Given the description of an element on the screen output the (x, y) to click on. 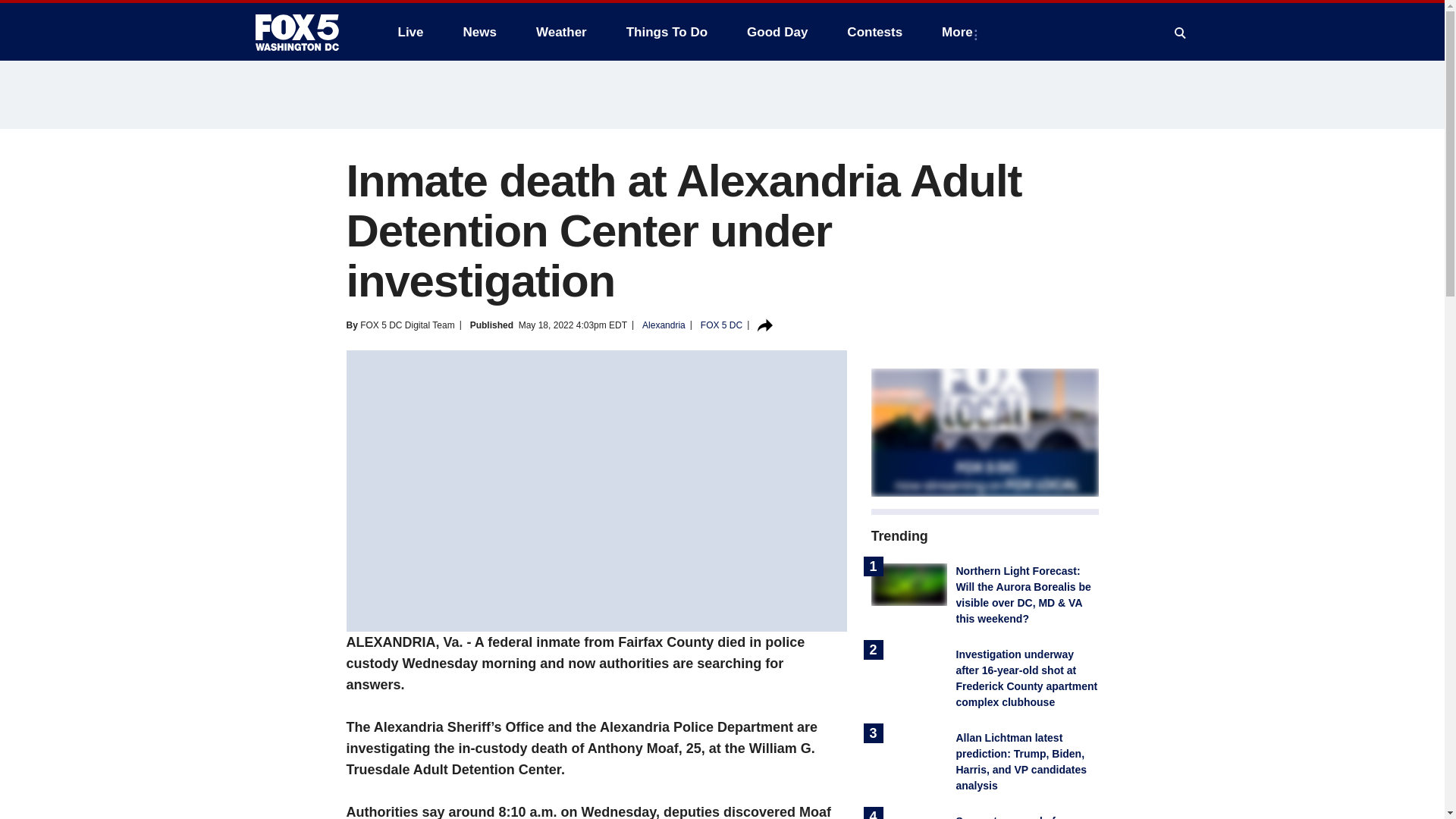
Things To Do (666, 32)
Weather (561, 32)
Contests (874, 32)
Good Day (777, 32)
Live (410, 32)
News (479, 32)
More (960, 32)
